Given the description of an element on the screen output the (x, y) to click on. 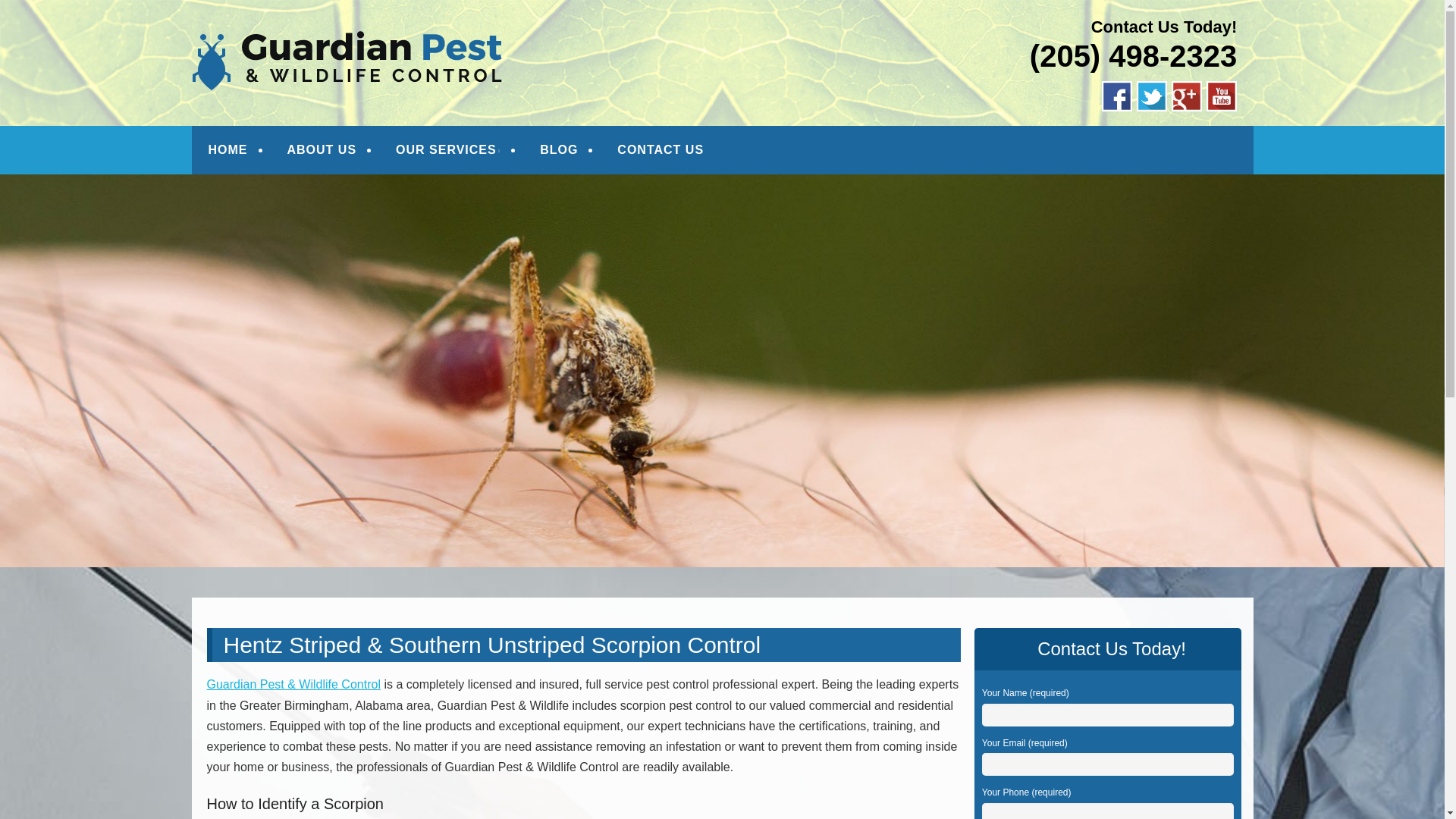
CONTACT US (660, 150)
HOME (227, 150)
BLOG (558, 150)
ABOUT US (321, 150)
OUR SERVICES (448, 150)
